Given the description of an element on the screen output the (x, y) to click on. 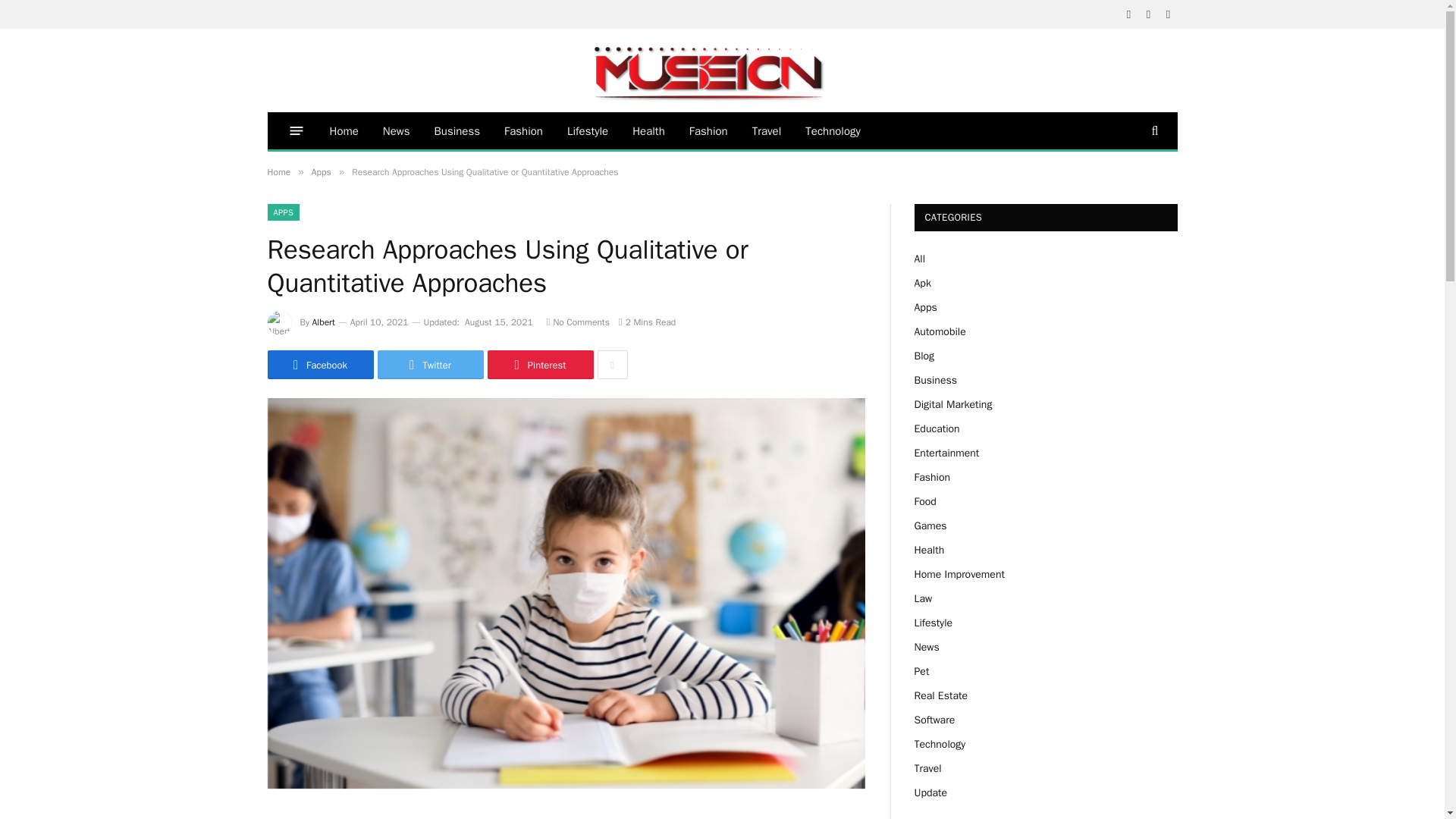
Posts by Albert (323, 322)
Business (457, 130)
Museion (546, 70)
Pinterest (539, 364)
APPS (282, 211)
Share on Pinterest (539, 364)
Albert (323, 322)
Show More Social Sharing (611, 364)
News (396, 130)
Fashion (708, 130)
